Given the description of an element on the screen output the (x, y) to click on. 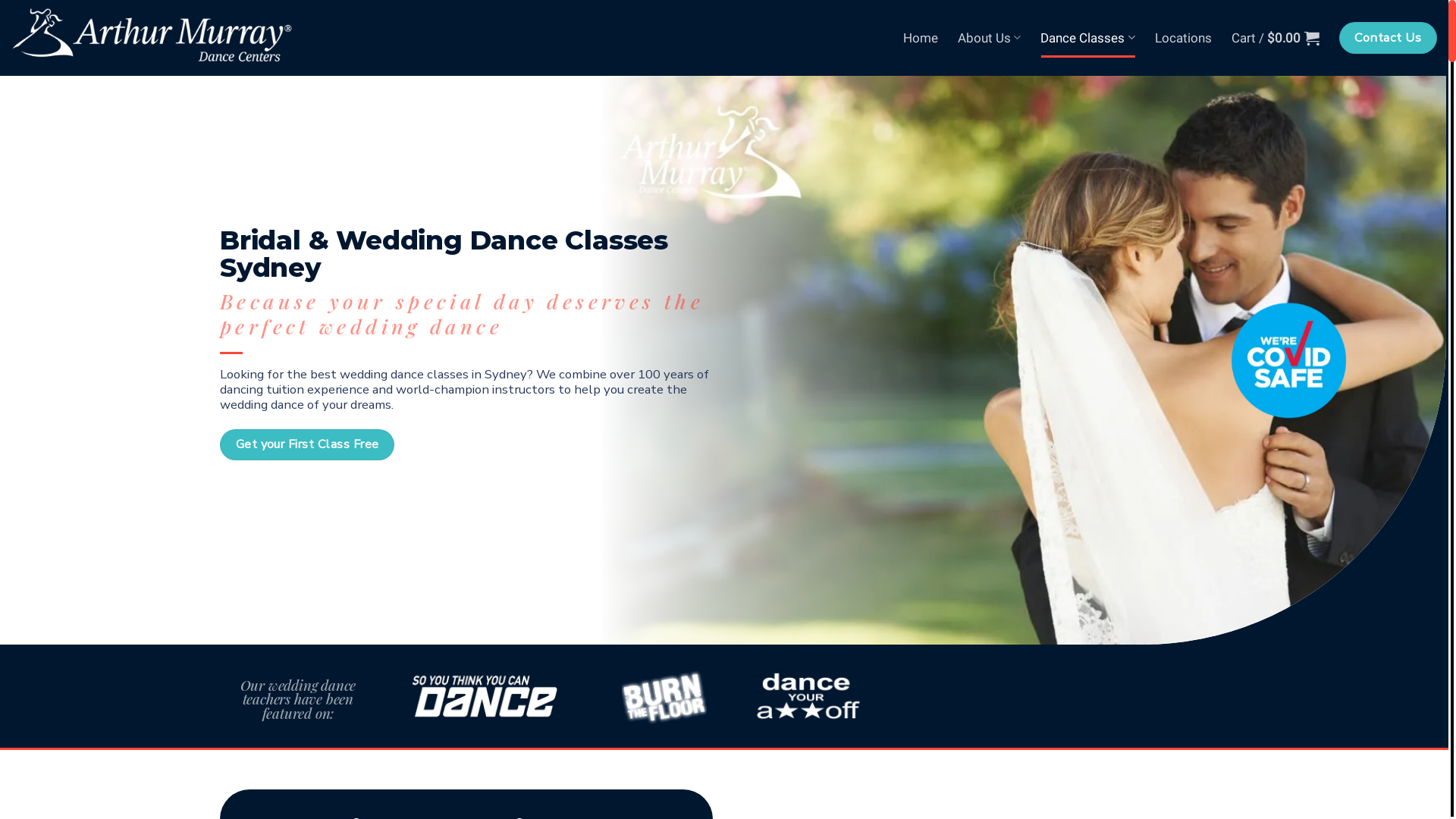
Home Element type: text (920, 37)
Cart / $0.00 Element type: text (1275, 37)
Get your First Class Free Element type: text (306, 444)
Locations Element type: text (1182, 37)
Dance Classes Element type: text (1087, 37)
Contact Us Element type: text (1388, 37)
About Us Element type: text (988, 37)
